Given the description of an element on the screen output the (x, y) to click on. 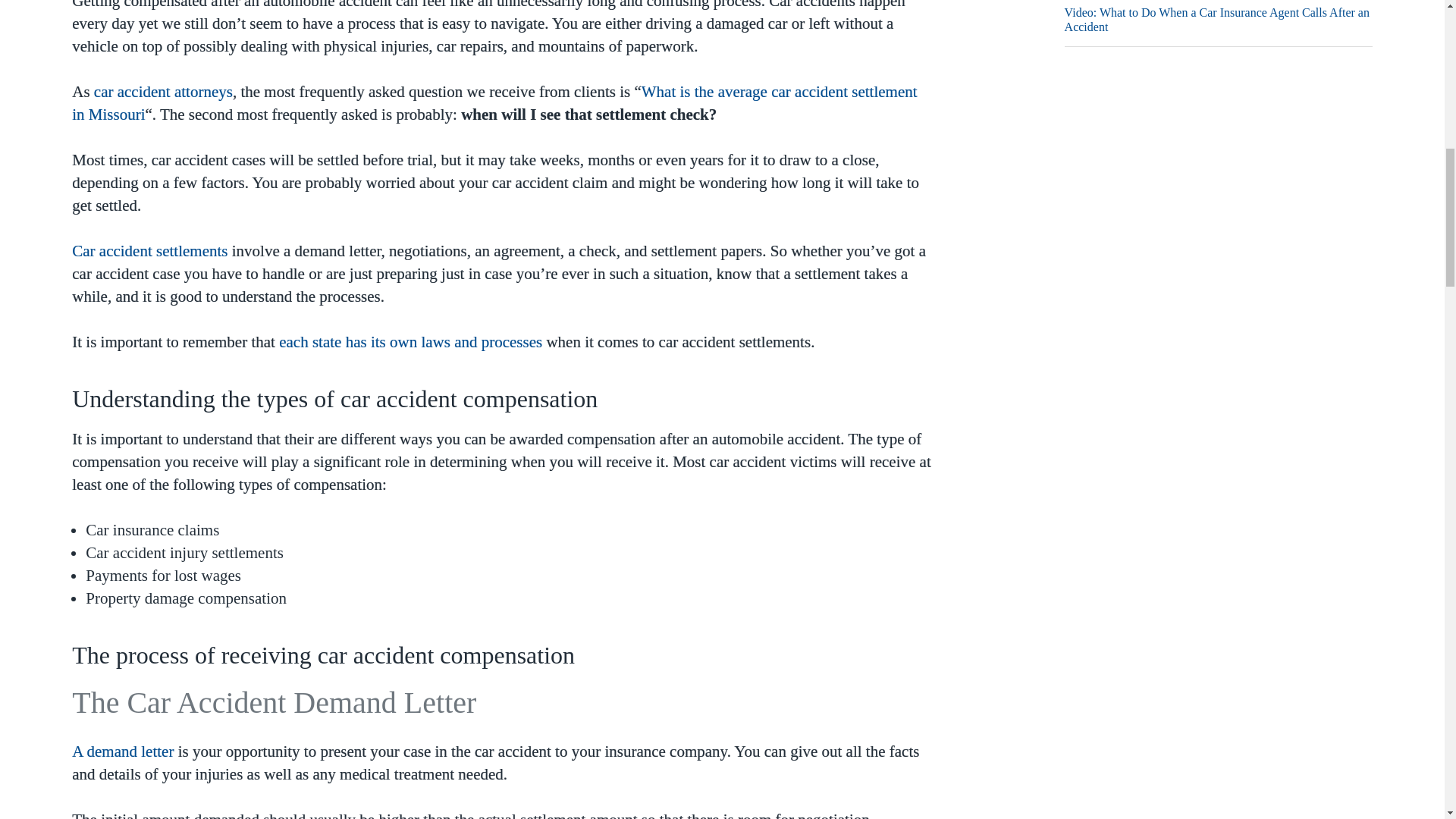
Car accident settlements (149, 250)
A demand letter (122, 751)
What is the average car accident settlement in Missouri (494, 102)
each state has its own laws and processes (408, 341)
car accident attorneys (163, 91)
